Given the description of an element on the screen output the (x, y) to click on. 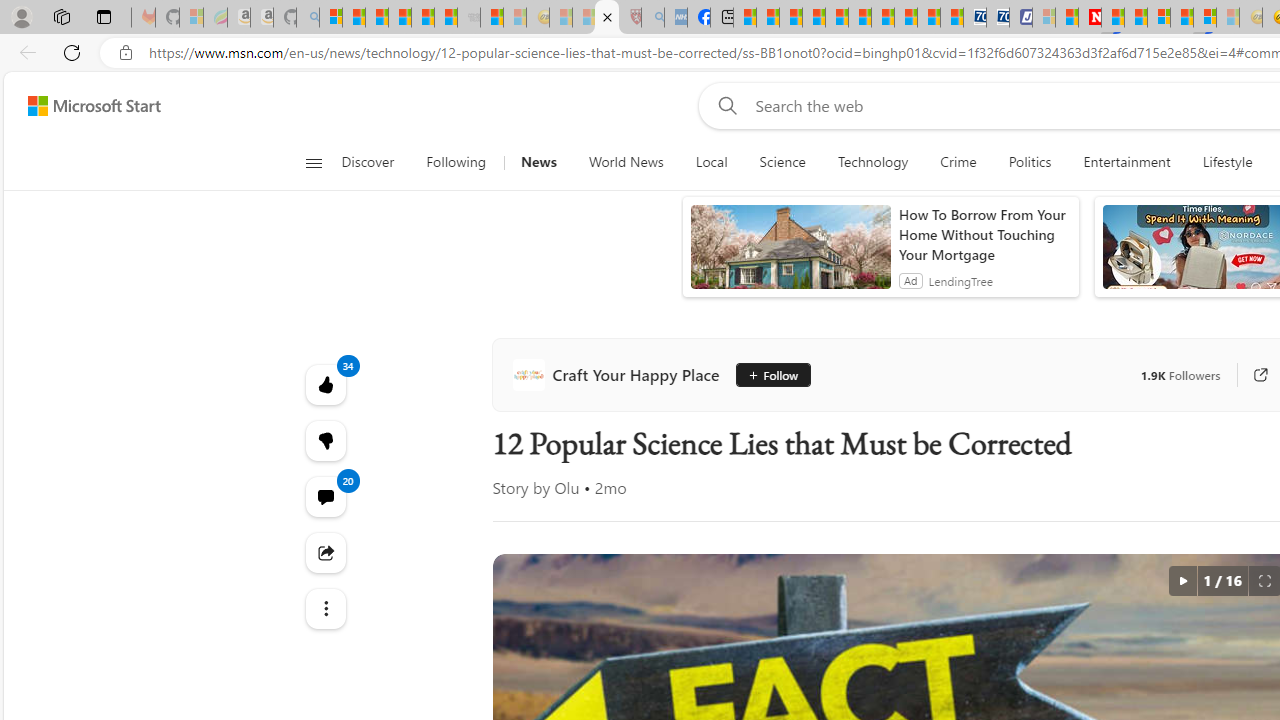
View comments 20 Comment (324, 496)
